Given the description of an element on the screen output the (x, y) to click on. 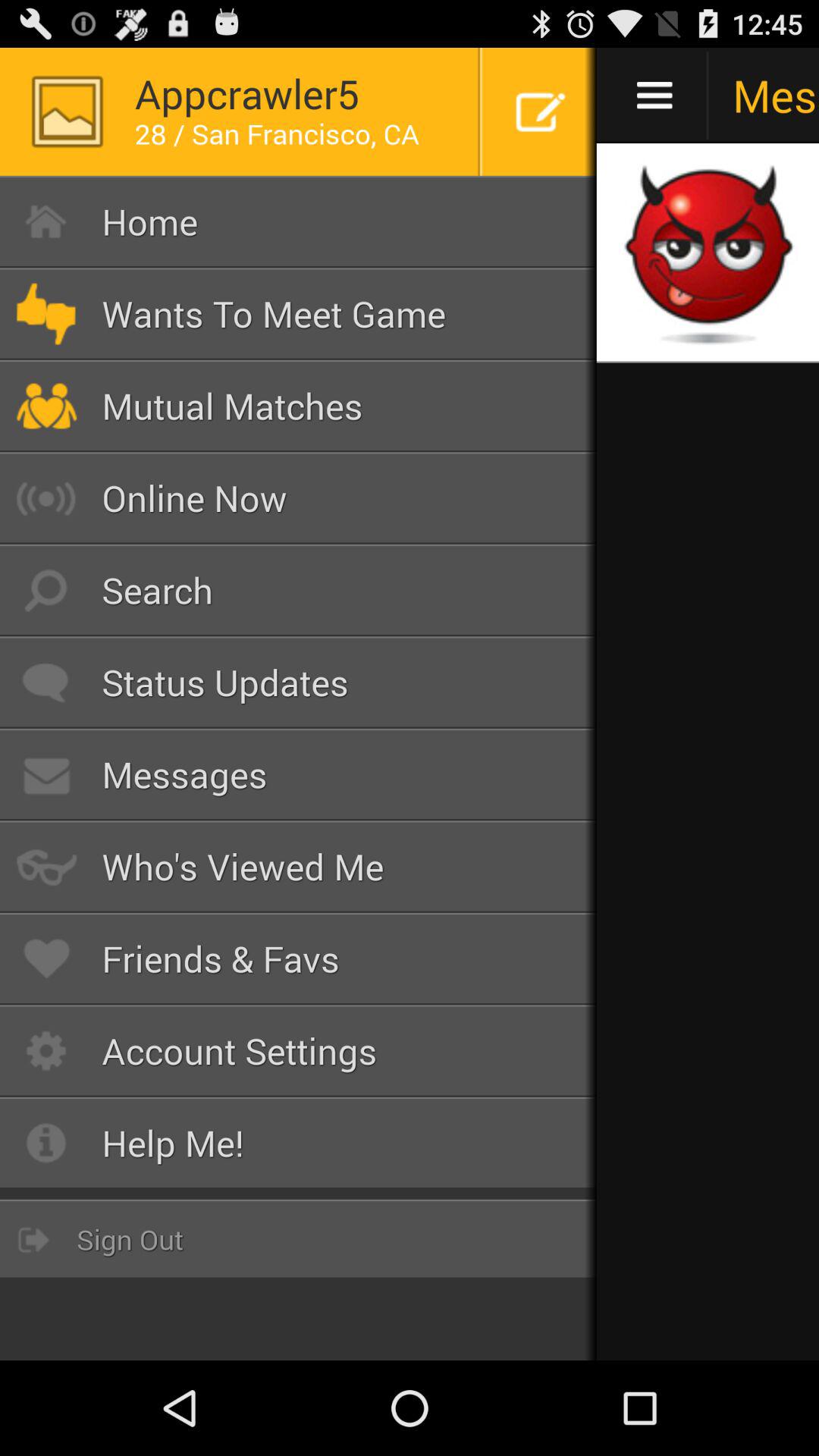
select item above friends & favs icon (298, 866)
